Given the description of an element on the screen output the (x, y) to click on. 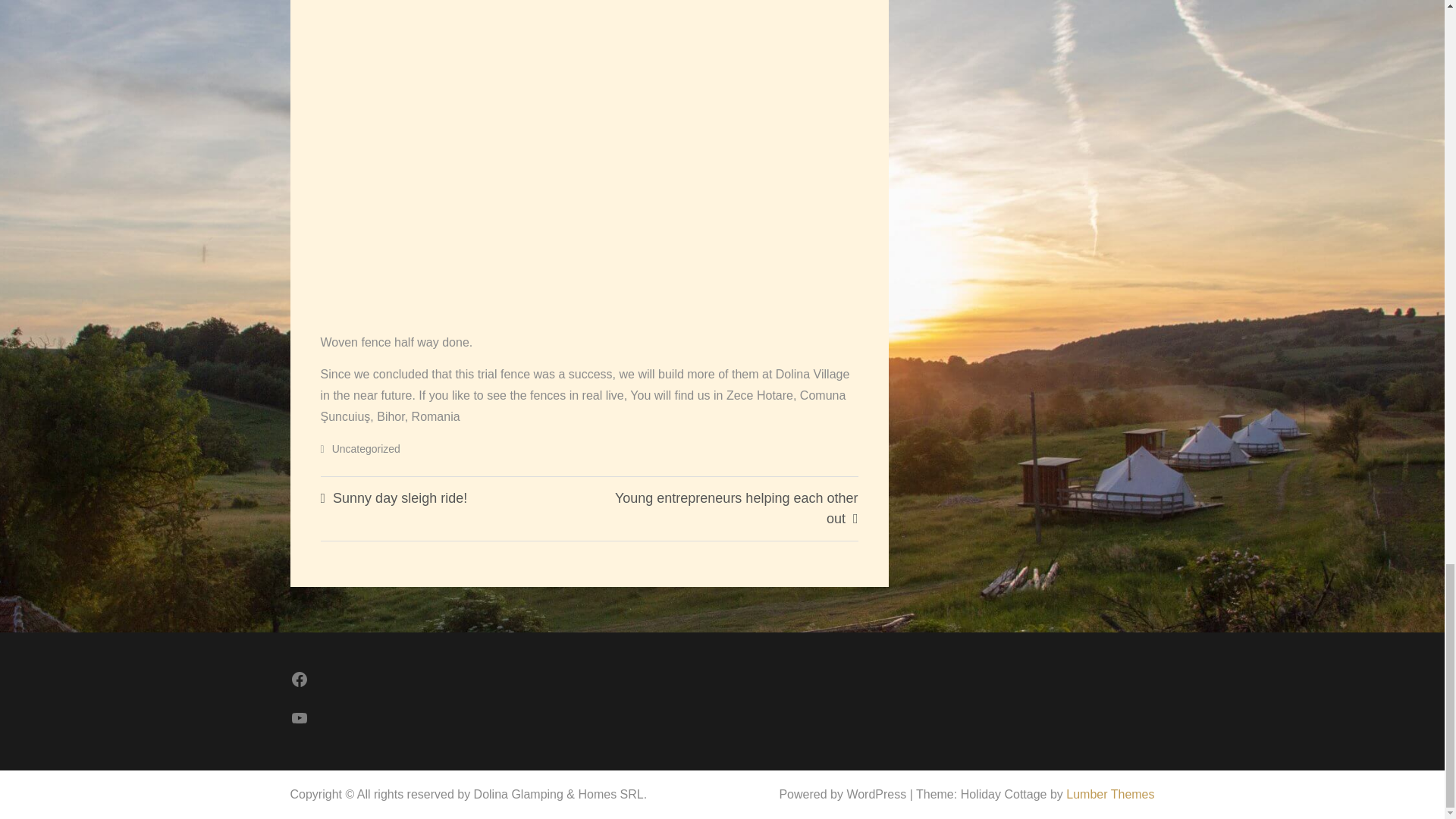
Sunny day sleigh ride! (400, 498)
Uncategorized (365, 449)
YouTube (311, 718)
Facebook (311, 679)
Young entrepreneurs helping each other out (736, 508)
